Given the description of an element on the screen output the (x, y) to click on. 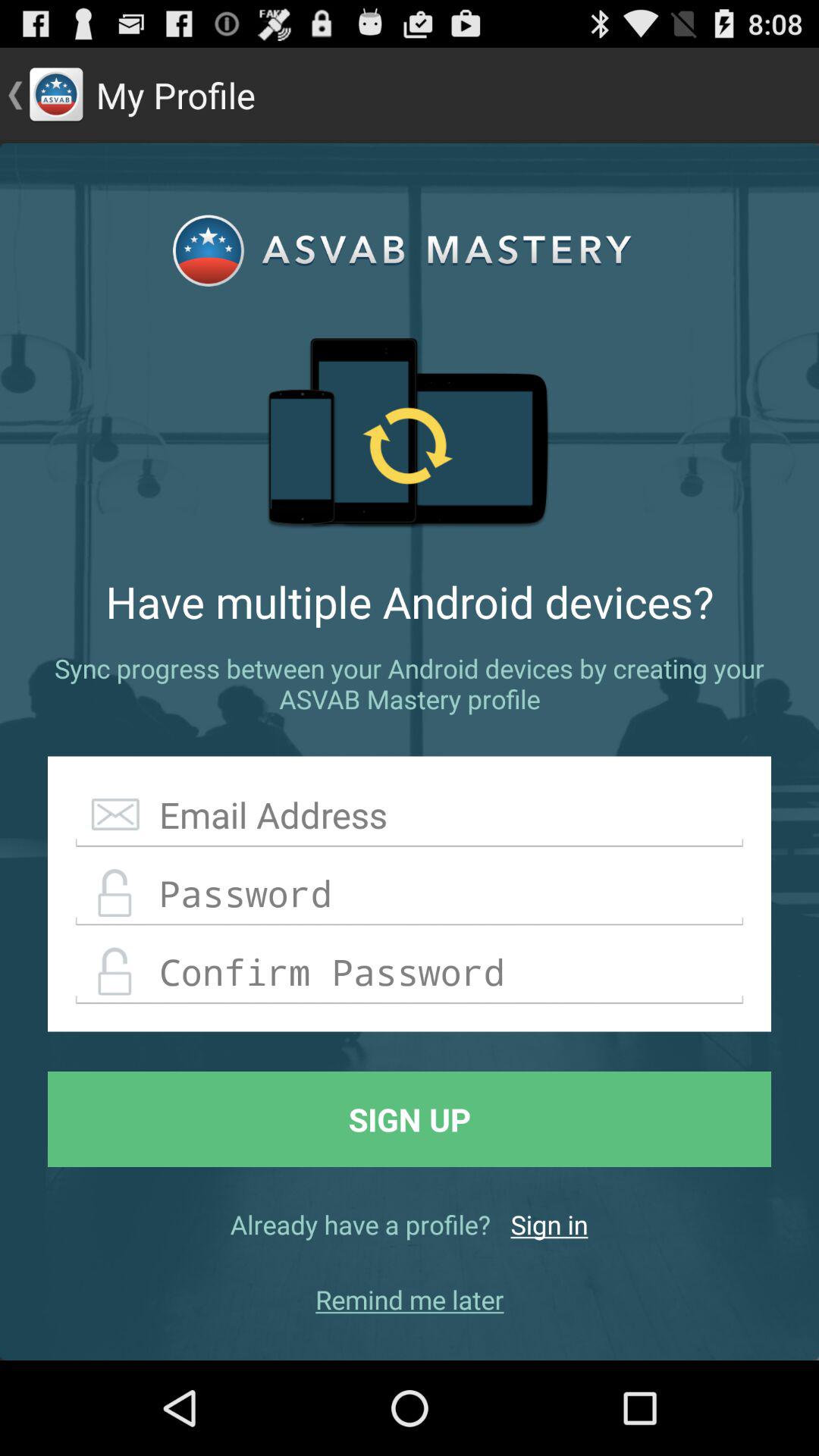
flip to the remind me later (409, 1299)
